Given the description of an element on the screen output the (x, y) to click on. 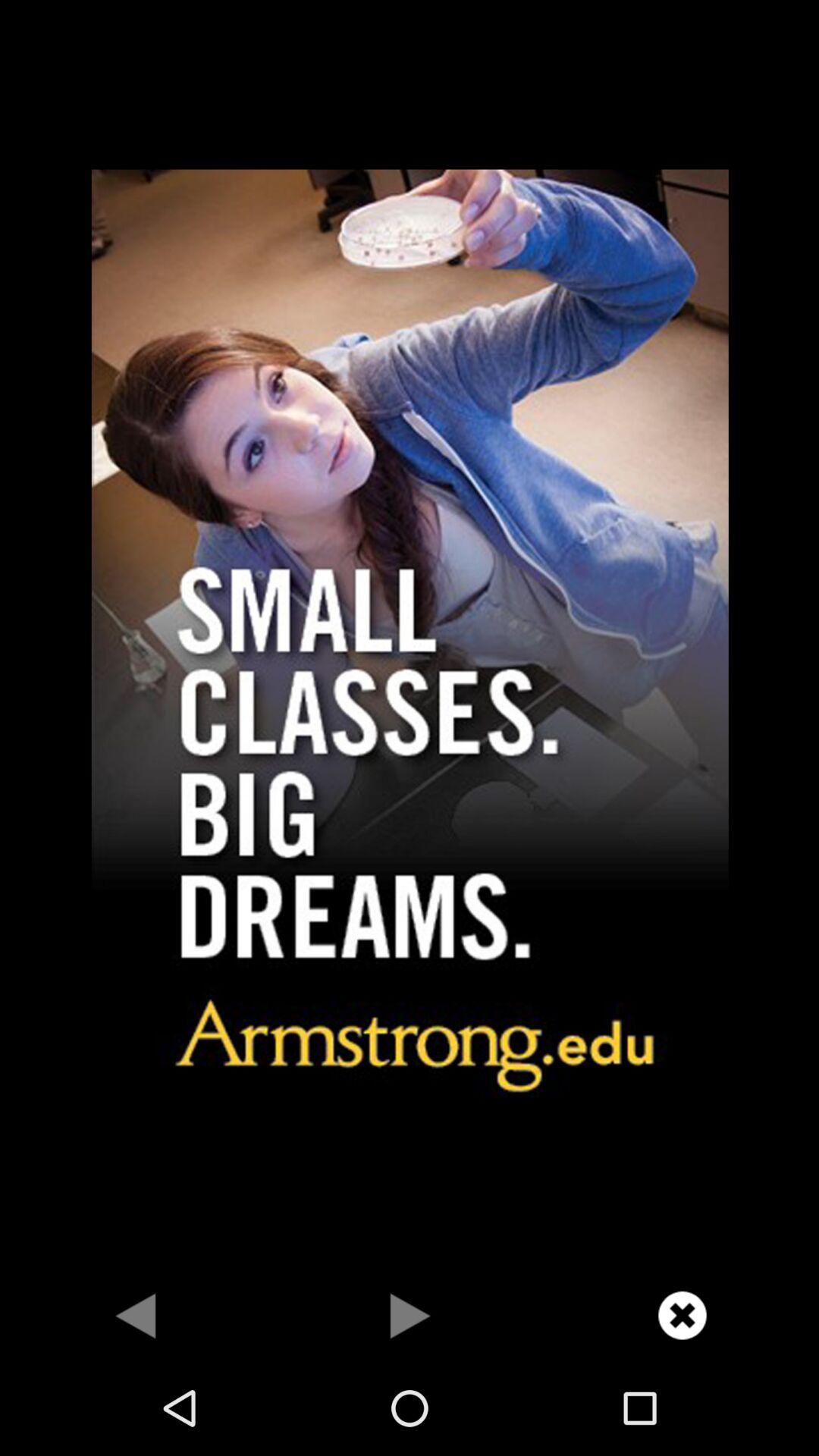
for back (136, 1315)
